Given the description of an element on the screen output the (x, y) to click on. 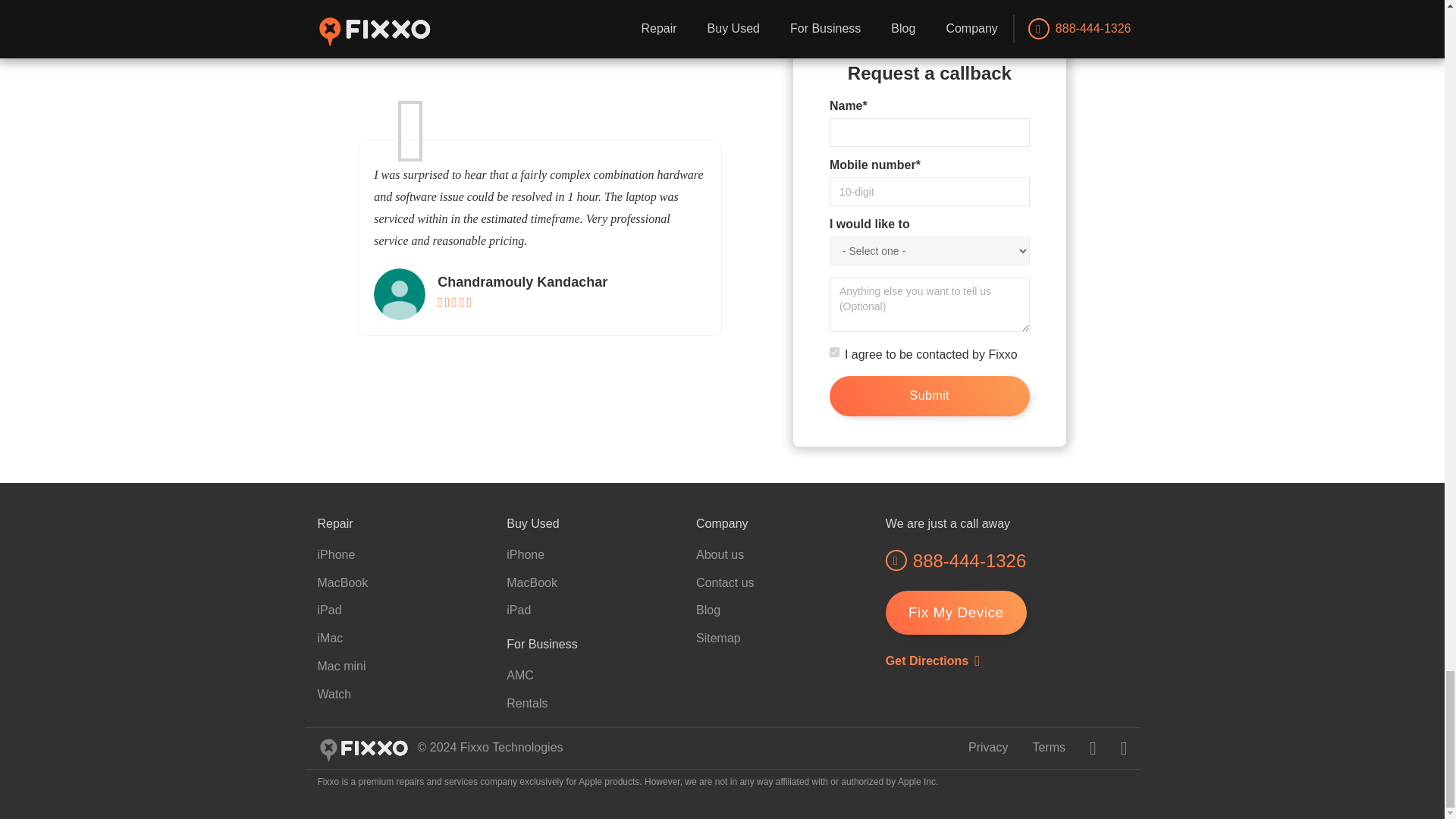
Submit (929, 395)
Submit (929, 395)
on (834, 352)
